Given the description of an element on the screen output the (x, y) to click on. 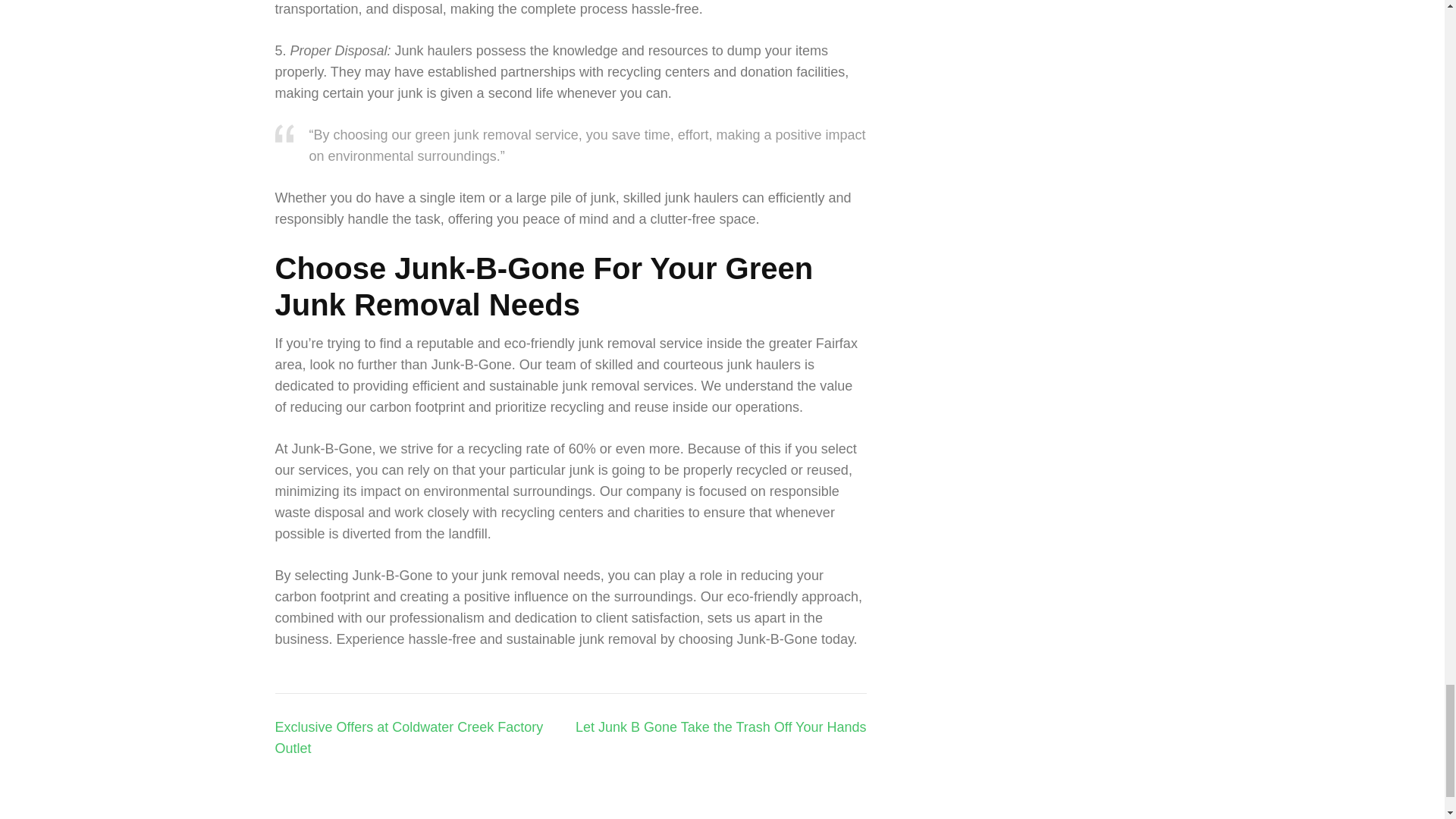
Exclusive Offers at Coldwater Creek Factory Outlet (409, 737)
Let Junk B Gone Take the Trash Off Your Hands (720, 726)
